Given the description of an element on the screen output the (x, y) to click on. 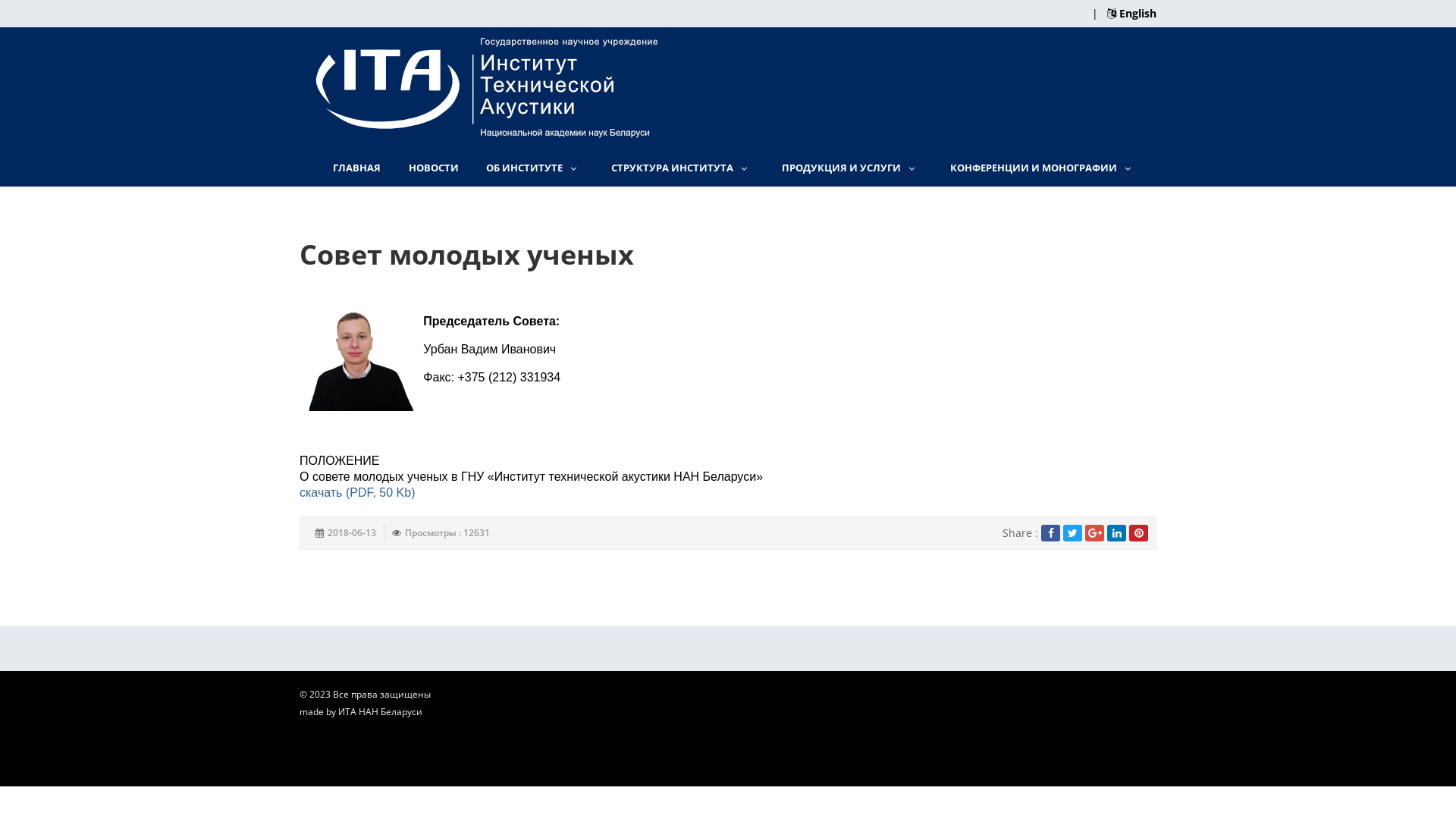
2018-06-13 Element type: text (351, 532)
English Element type: text (1131, 13)
